Given the description of an element on the screen output the (x, y) to click on. 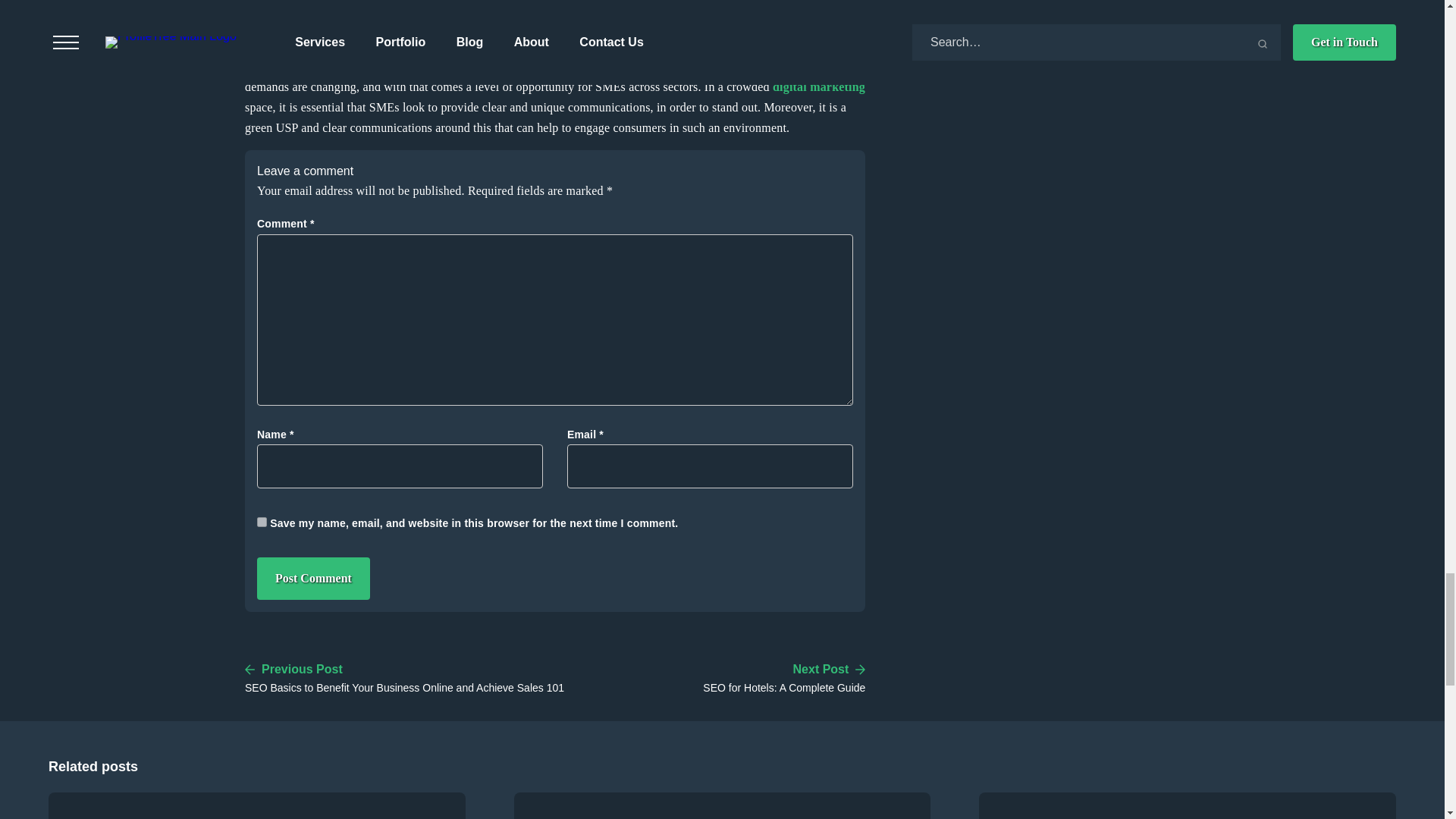
Post Comment (313, 578)
yes (261, 521)
digital marketing (818, 86)
business (658, 44)
